Given the description of an element on the screen output the (x, y) to click on. 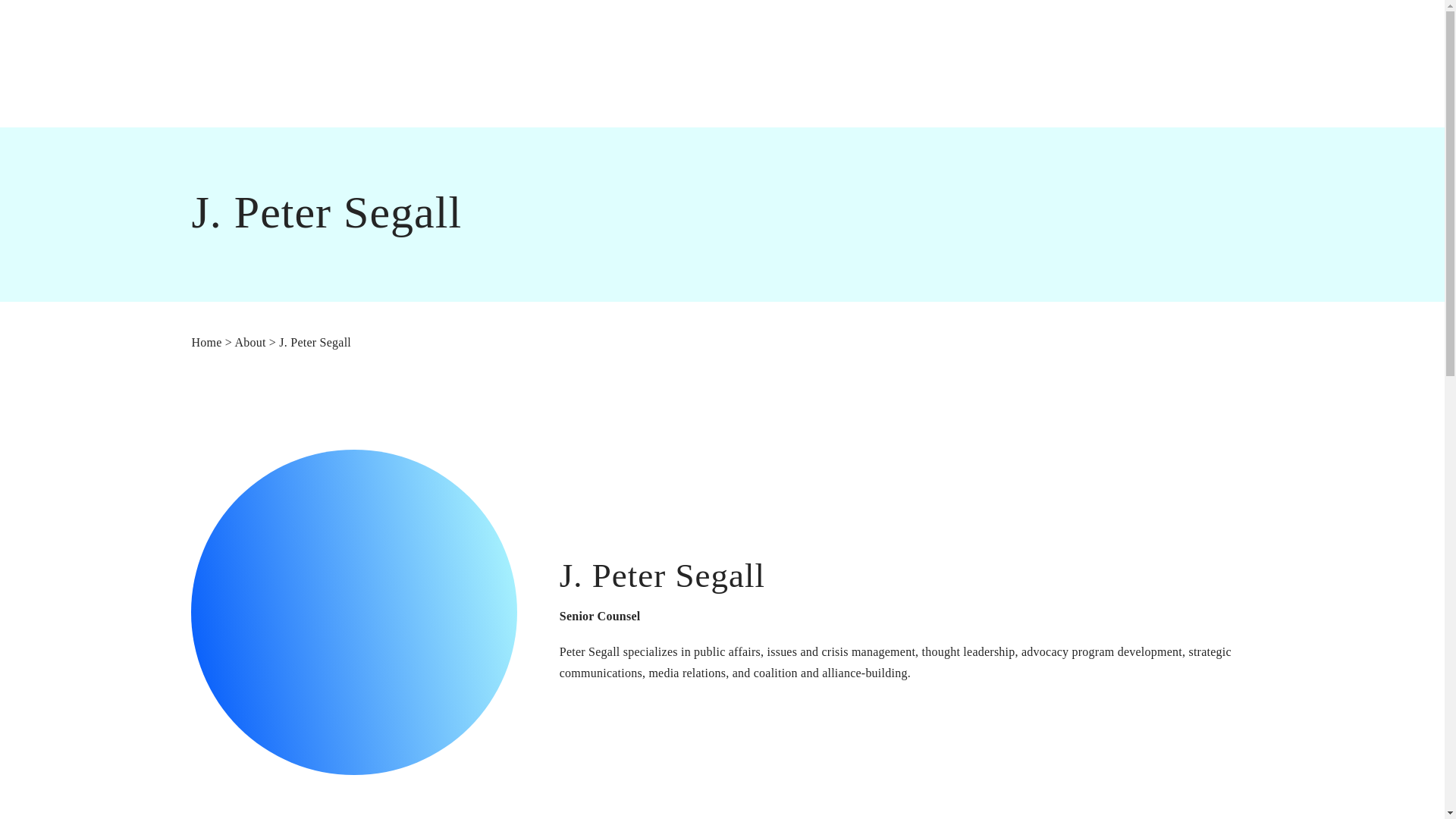
Home (205, 341)
About (249, 341)
